Given the description of an element on the screen output the (x, y) to click on. 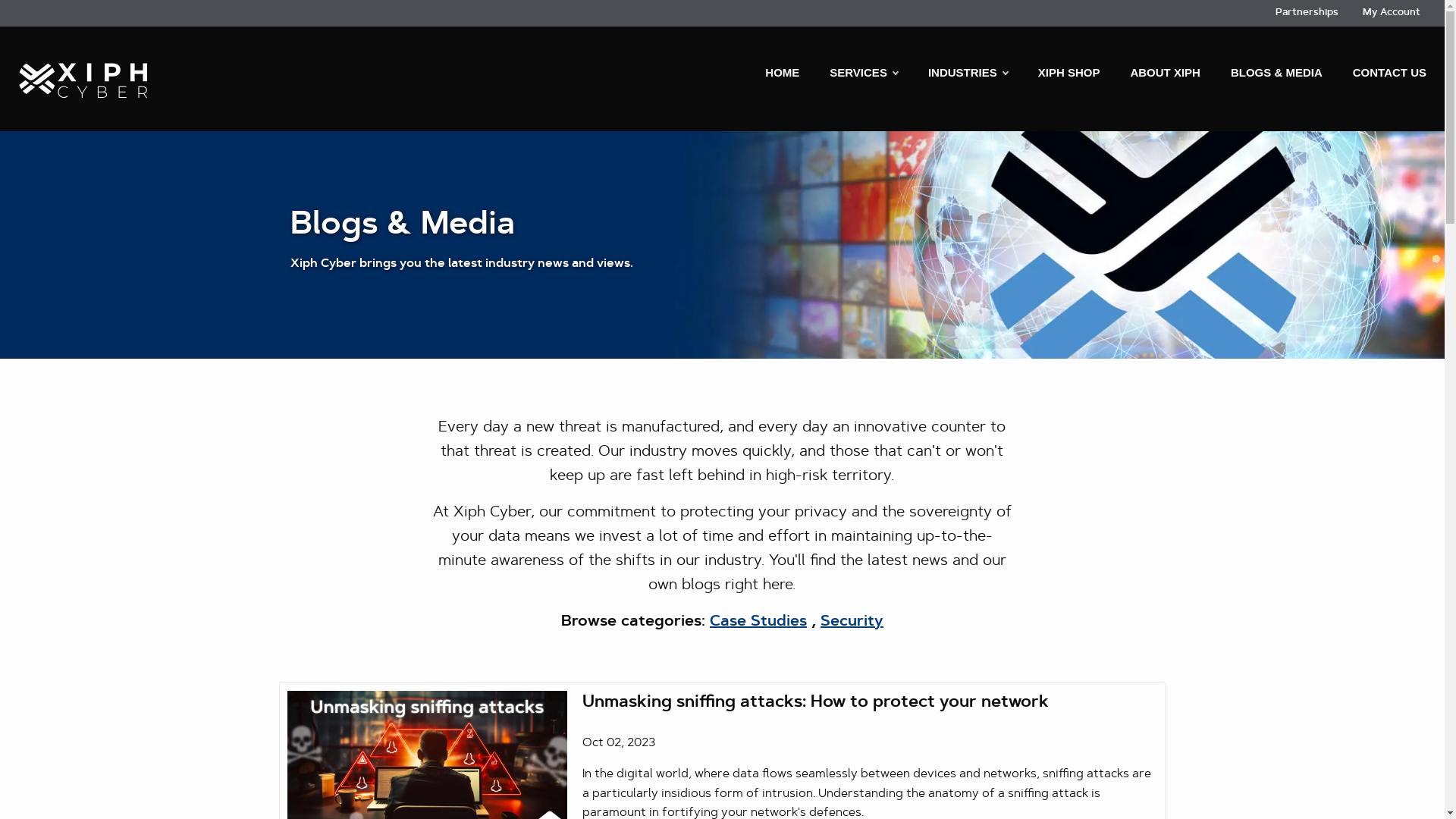
Case Studies Element type: text (757, 621)
ABOUT XIPH Element type: text (1164, 72)
XIPH SHOP Element type: text (1068, 72)
INDUSTRIES Element type: text (967, 72)
HOME Element type: text (781, 72)
Security Element type: text (851, 621)
CONTACT US Element type: text (1381, 72)
My Account Element type: text (1391, 13)
BLOGS & MEDIA Element type: text (1276, 72)
Partnerships Element type: text (1306, 13)
SERVICES Element type: text (863, 72)
